Given the description of an element on the screen output the (x, y) to click on. 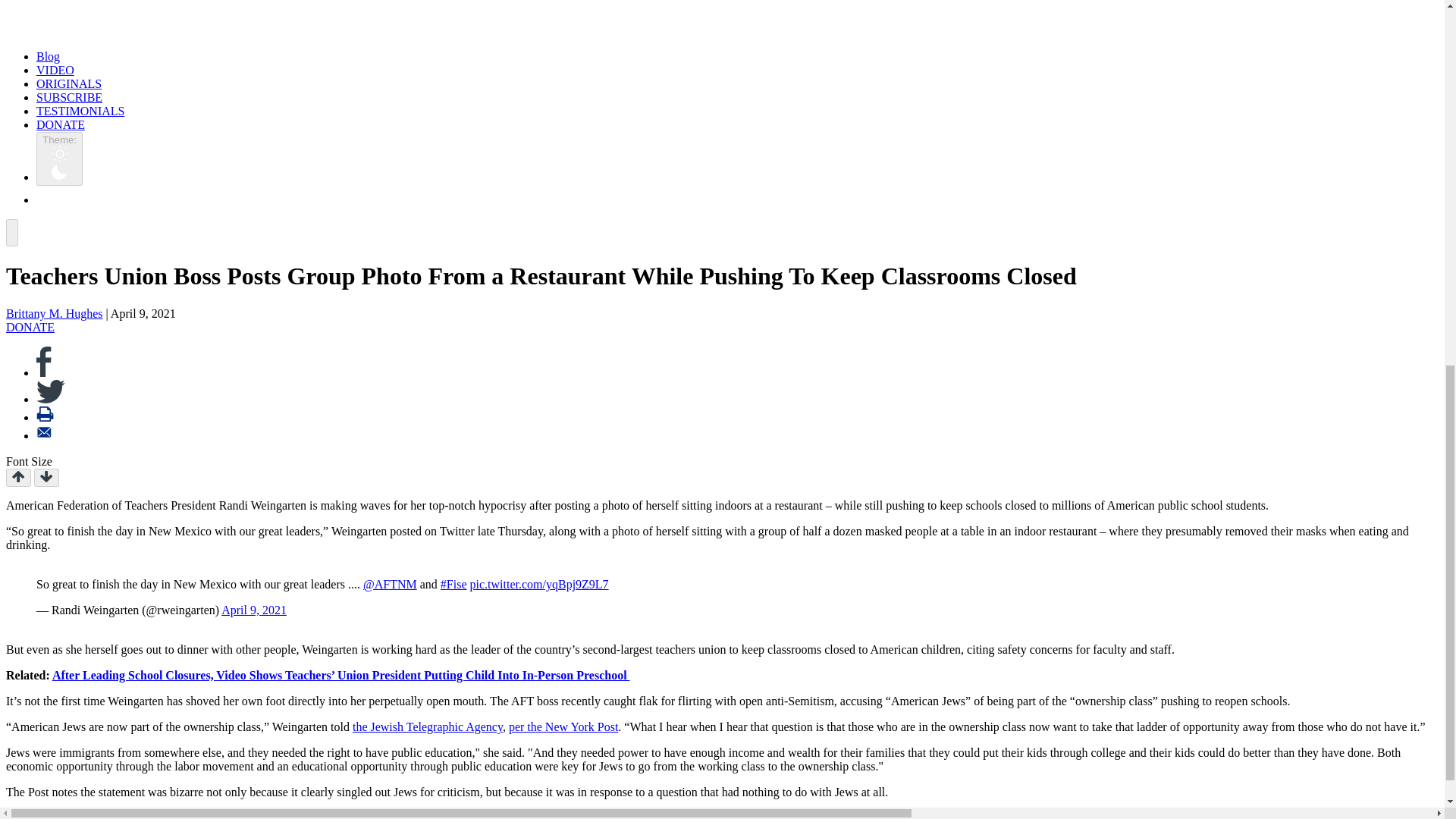
Email This Blog (44, 435)
TESTIMONIALS (79, 110)
Brittany M. Hughes (54, 313)
VIDEO (55, 69)
ORIGINALS (68, 83)
SUBSCRIBE (68, 97)
per the New York Post (562, 726)
DONATE (60, 124)
Print Page (44, 417)
April 9, 2021 (253, 609)
